Given the description of an element on the screen output the (x, y) to click on. 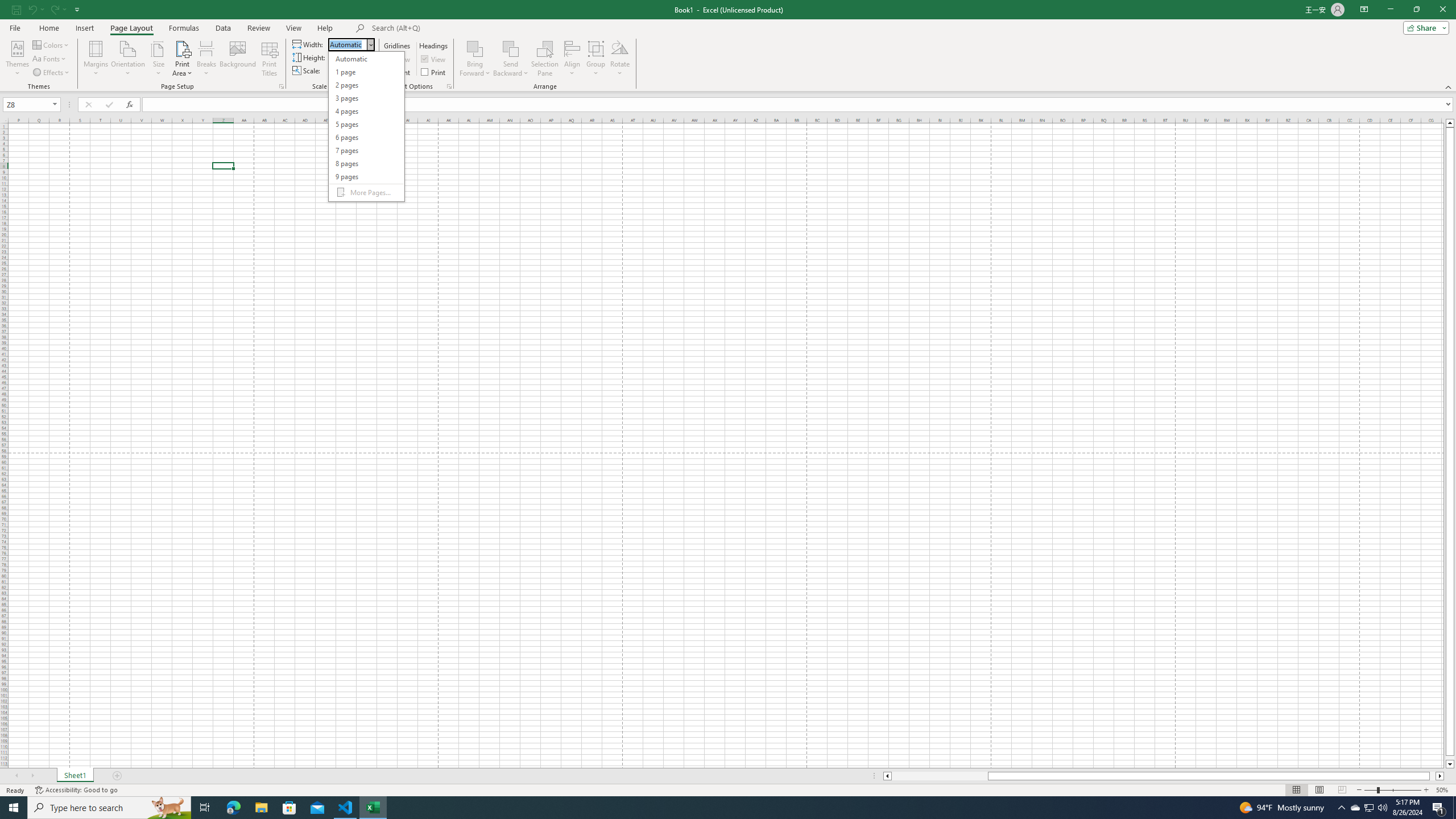
Page Layout (131, 28)
2 pages (366, 84)
Print Area (182, 58)
Margins (95, 58)
Help (325, 28)
Breaks (206, 58)
Scroll Right (32, 775)
Orientation (128, 58)
Share (1423, 27)
Zoom In (1426, 790)
Width (347, 44)
Name Box (27, 104)
Less (360, 73)
Sheet Options (449, 85)
Line down (1449, 764)
